Given the description of an element on the screen output the (x, y) to click on. 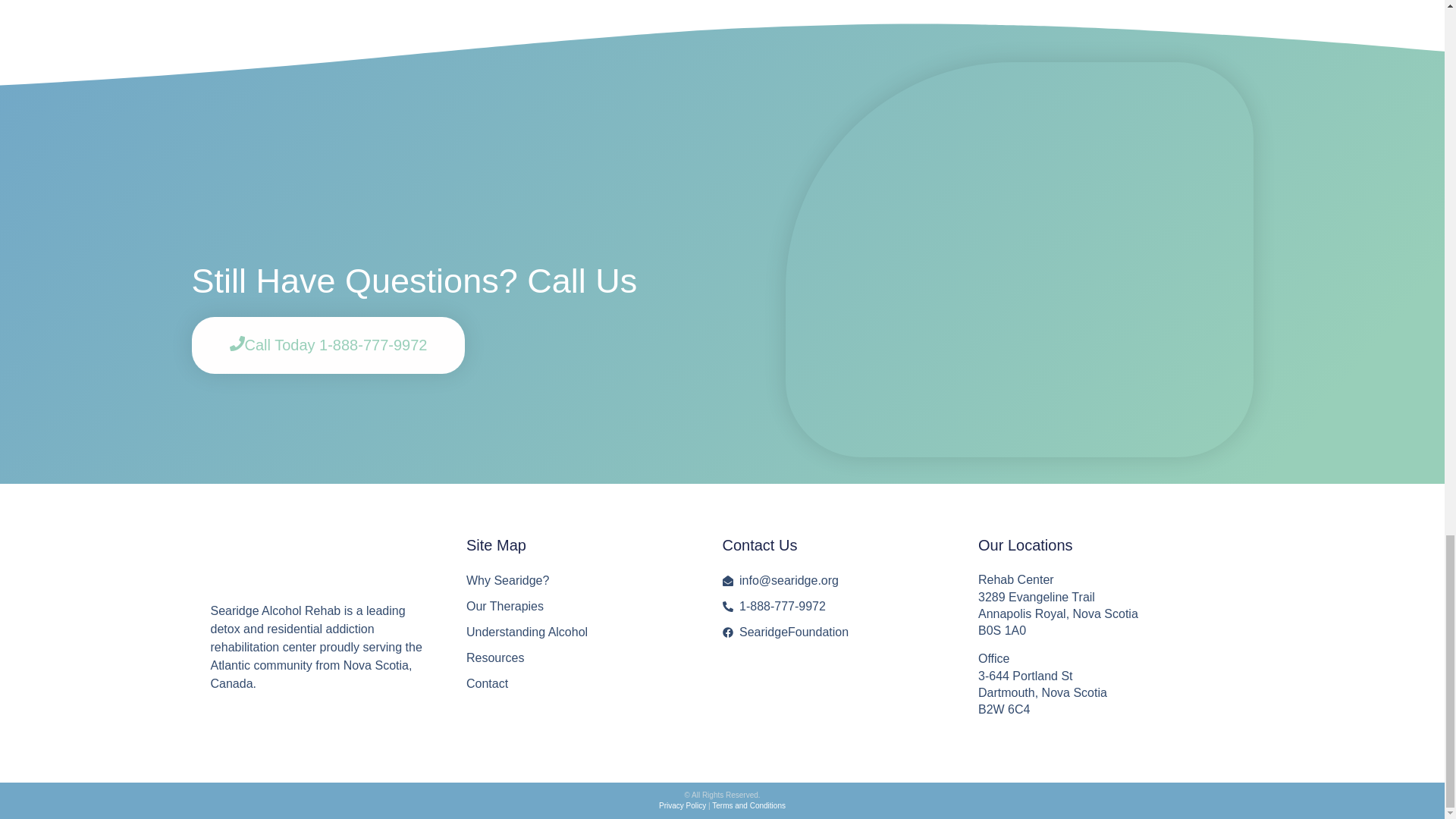
Contact (578, 683)
Terms and Conditions (748, 805)
1-888-777-9972 (834, 606)
Resources (578, 658)
Understanding Alcohol (578, 632)
Call Today 1-888-777-9972 (327, 344)
Why Searidge? (578, 580)
Our Therapies (578, 606)
SearidgeFoundation (834, 632)
Privacy Policy (682, 805)
